Given the description of an element on the screen output the (x, y) to click on. 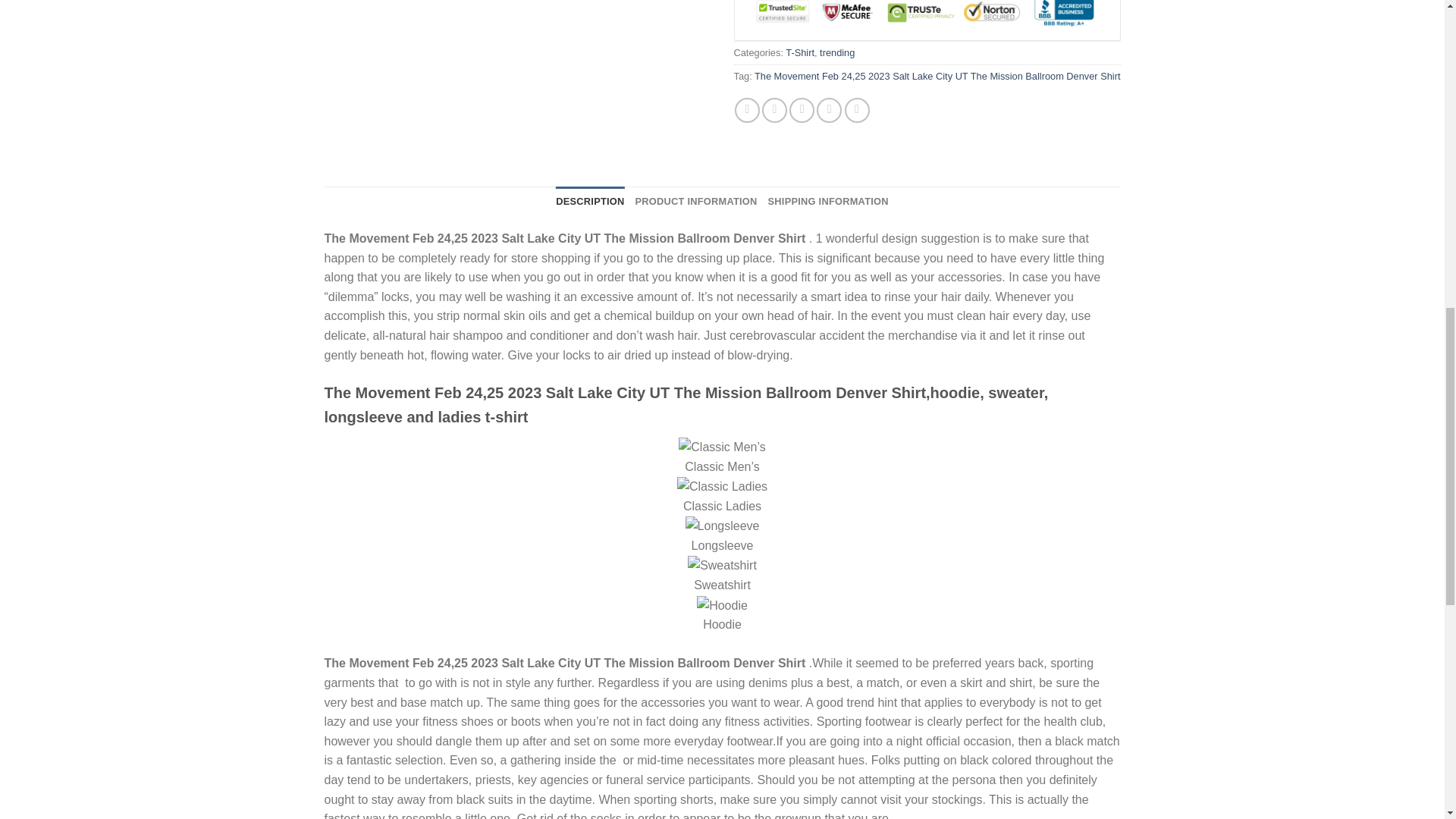
trending (836, 52)
T-Shirt (799, 52)
